Given the description of an element on the screen output the (x, y) to click on. 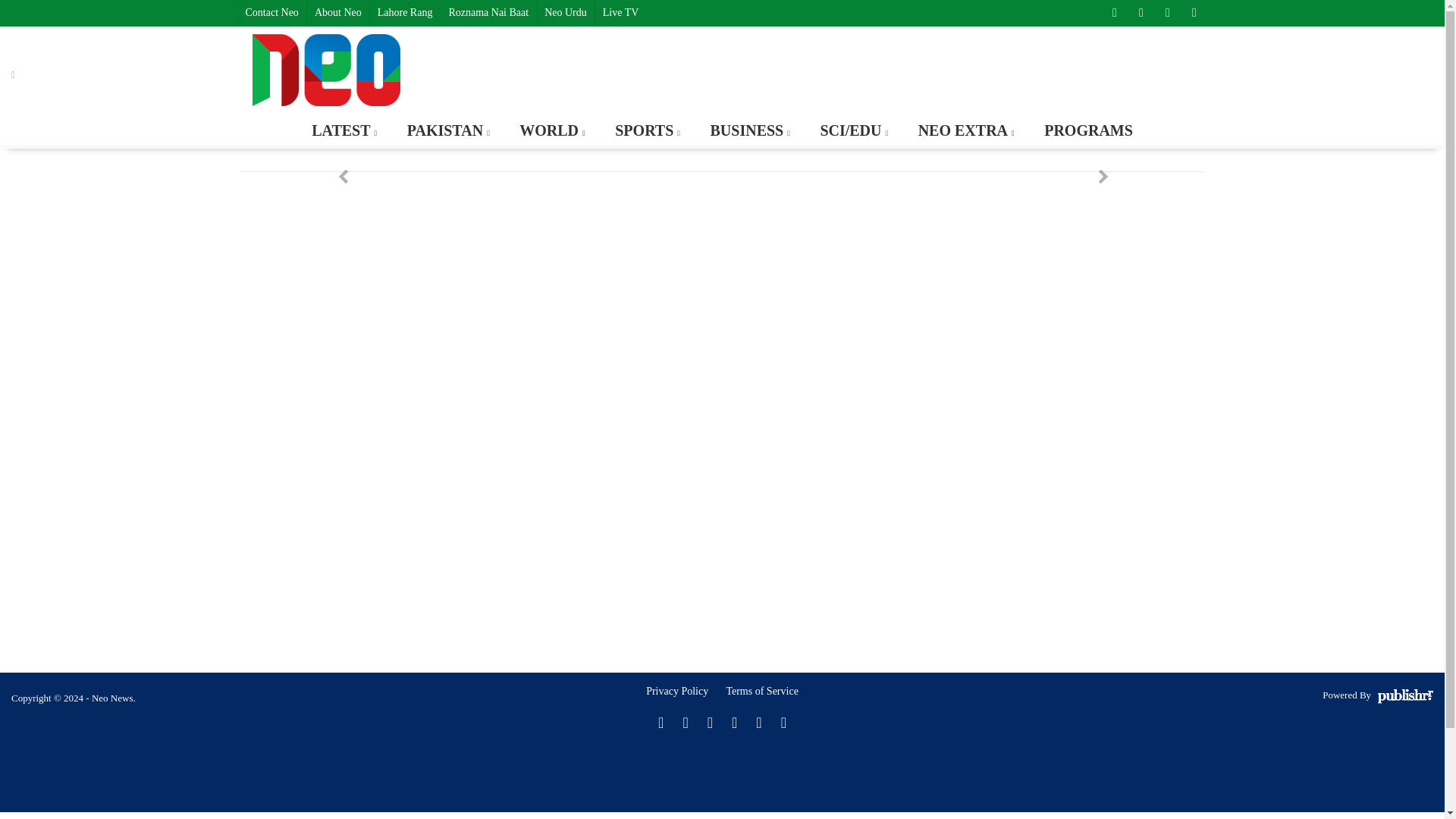
WORLD (549, 130)
Live TV (620, 13)
SKIP TO CONTENT (71, 122)
Skip to content (71, 122)
LATEST (342, 130)
Contact Neo (270, 13)
About Neo (337, 13)
PAKISTAN (446, 130)
Roznama Nai Baat (487, 13)
Neo Urdu (564, 13)
